Given the description of an element on the screen output the (x, y) to click on. 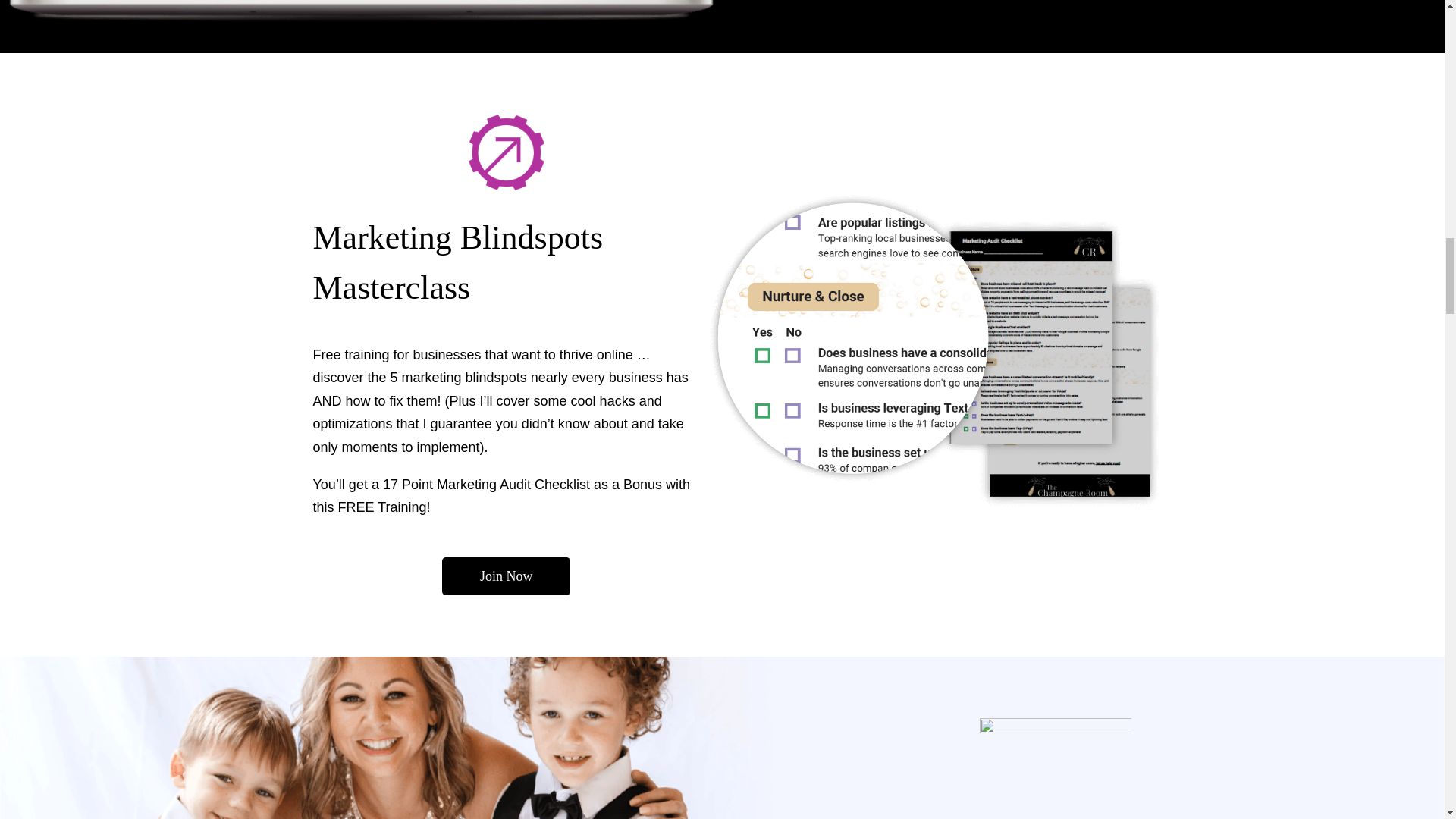
gear icon - Melissa Ricker (506, 152)
Join Now (506, 576)
engineer icon - Melissa Ricker (1055, 768)
